Given the description of an element on the screen output the (x, y) to click on. 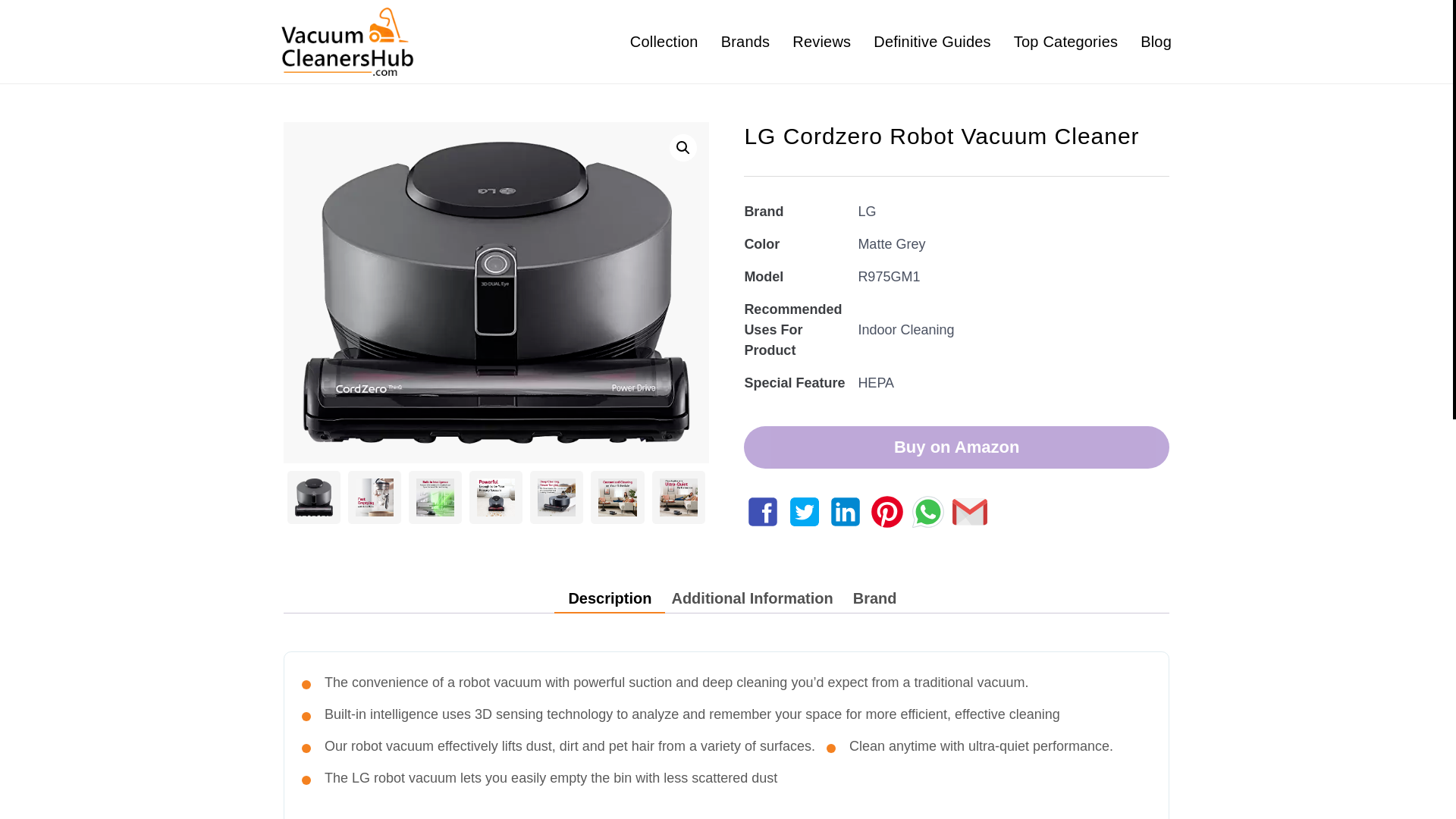
Collection (664, 41)
Top Categories (1065, 41)
Brands (745, 41)
Reviews (821, 41)
Vacuum Cleaners Hub (385, 89)
Definitive Guides (932, 41)
Blog (1156, 41)
